Given the description of an element on the screen output the (x, y) to click on. 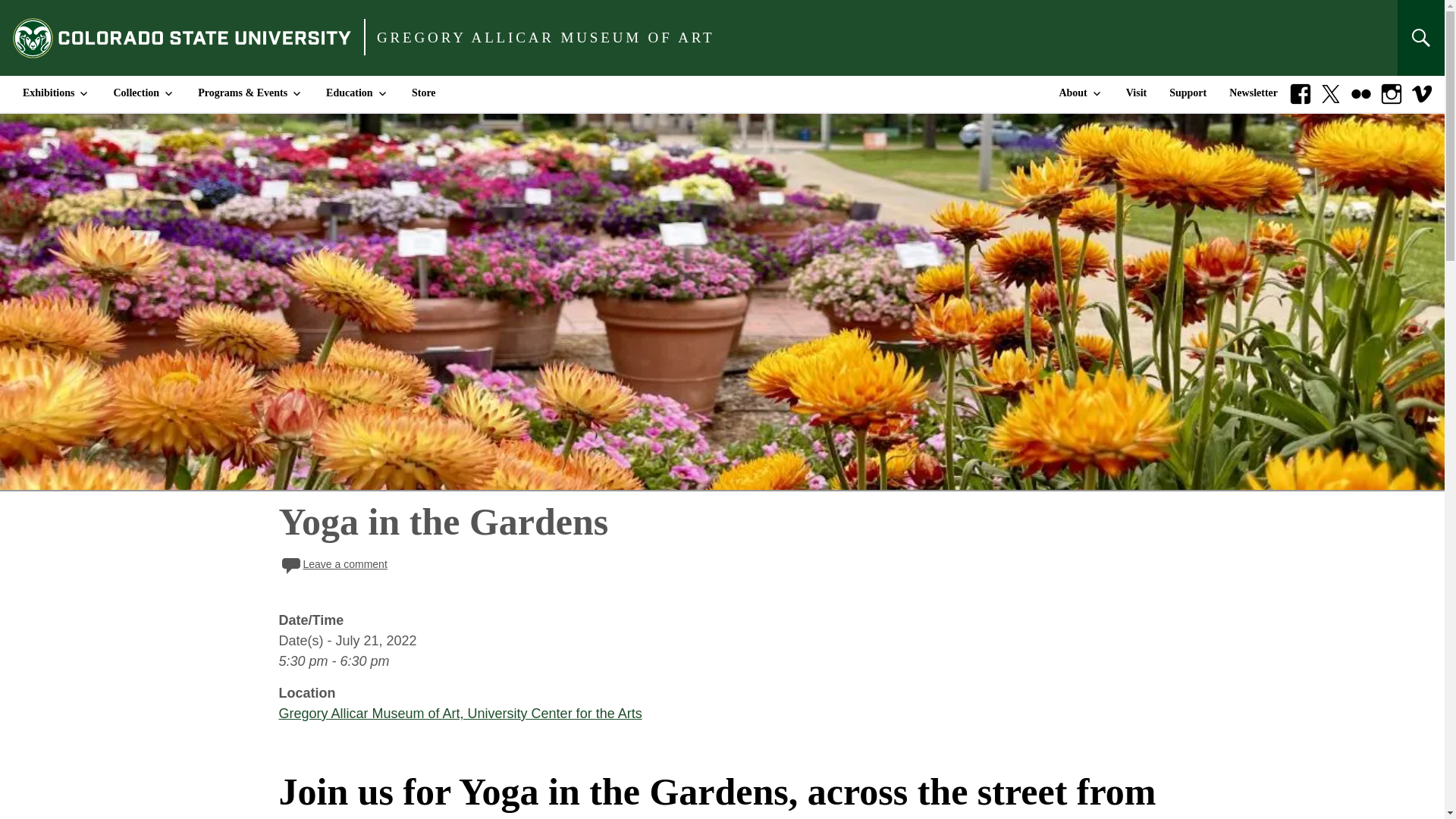
Store (423, 94)
Collection (143, 94)
About (1079, 94)
Exhibitions (56, 94)
GREGORY ALLICAR MUSEUM OF ART (545, 38)
Education (356, 94)
